Given the description of an element on the screen output the (x, y) to click on. 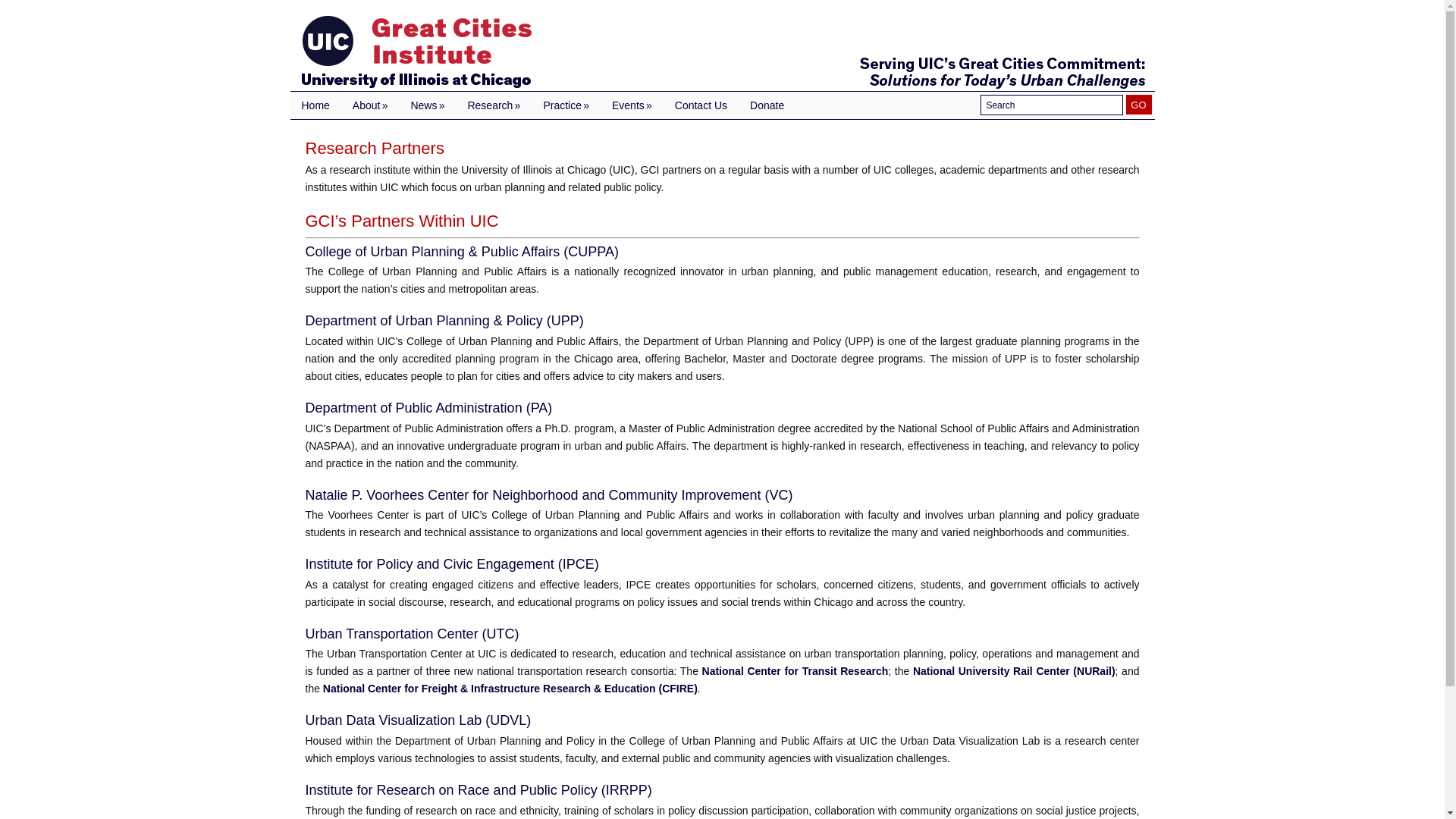
Institute for Policy and Civic Engagement (451, 563)
Search (1050, 105)
Institute for Research on Race and Public Policy (477, 789)
Department of Public Administration (427, 407)
Urban Data Visualization Lab (417, 720)
GO (1138, 104)
Urban Transportation Center (411, 633)
GO (1138, 104)
Home (314, 104)
Great Cities Institute (721, 52)
Great Cities Institute (721, 52)
